Given the description of an element on the screen output the (x, y) to click on. 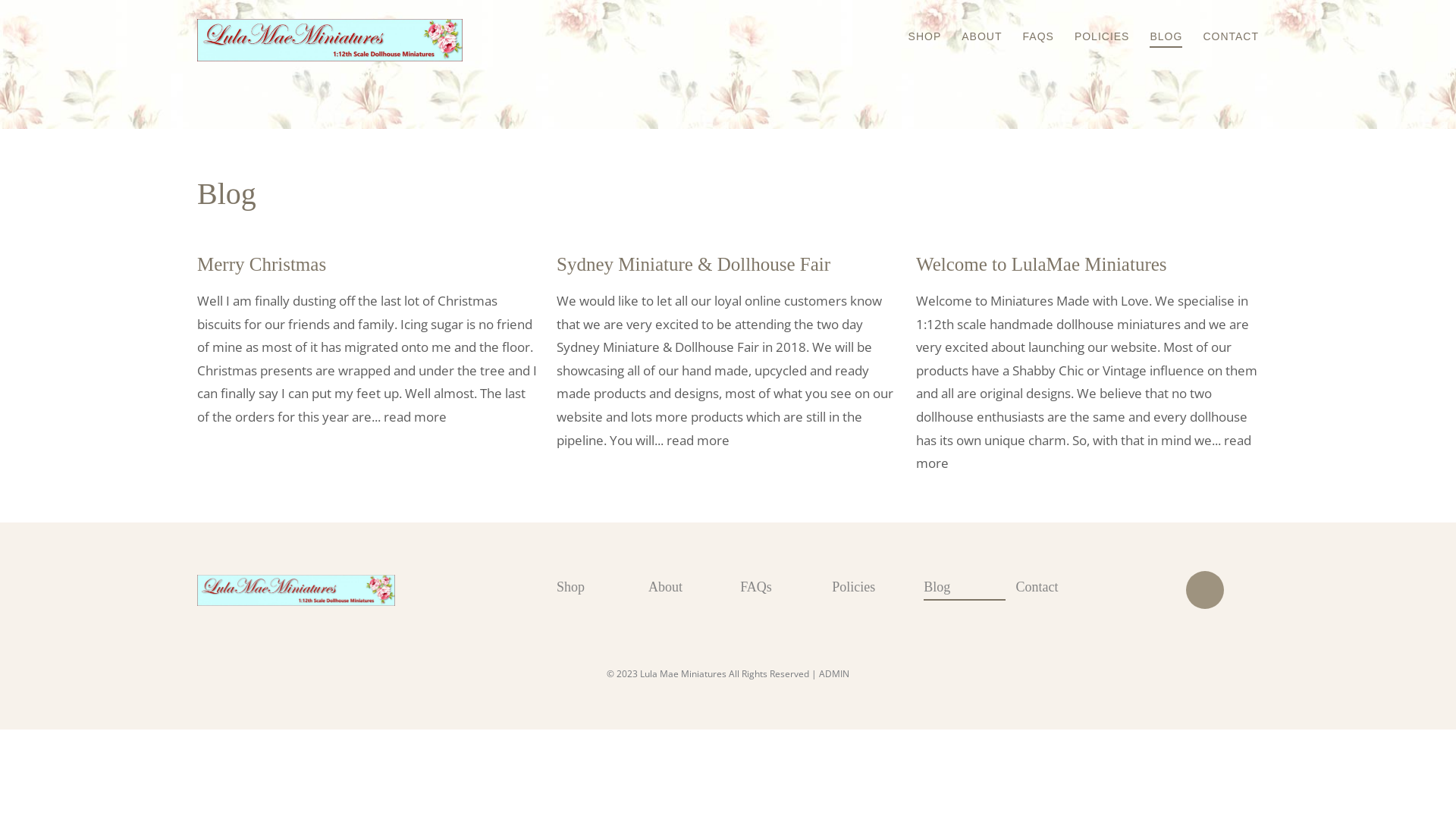
SHOP Element type: text (916, 26)
FAQS Element type: text (1029, 26)
BLOG Element type: text (1157, 26)
ABOUT Element type: text (972, 26)
Lula Mae Miniatures Element type: hover (368, 590)
About Element type: text (694, 586)
Contact Element type: text (1061, 586)
ADMIN Element type: text (834, 673)
Policies Element type: text (877, 586)
FAQs Element type: text (785, 586)
Lula Mae Miniatures Element type: hover (329, 40)
Shop Element type: text (602, 586)
CONTACT Element type: text (1221, 26)
Blog Element type: text (969, 587)
POLICIES Element type: text (1093, 26)
